Given the description of an element on the screen output the (x, y) to click on. 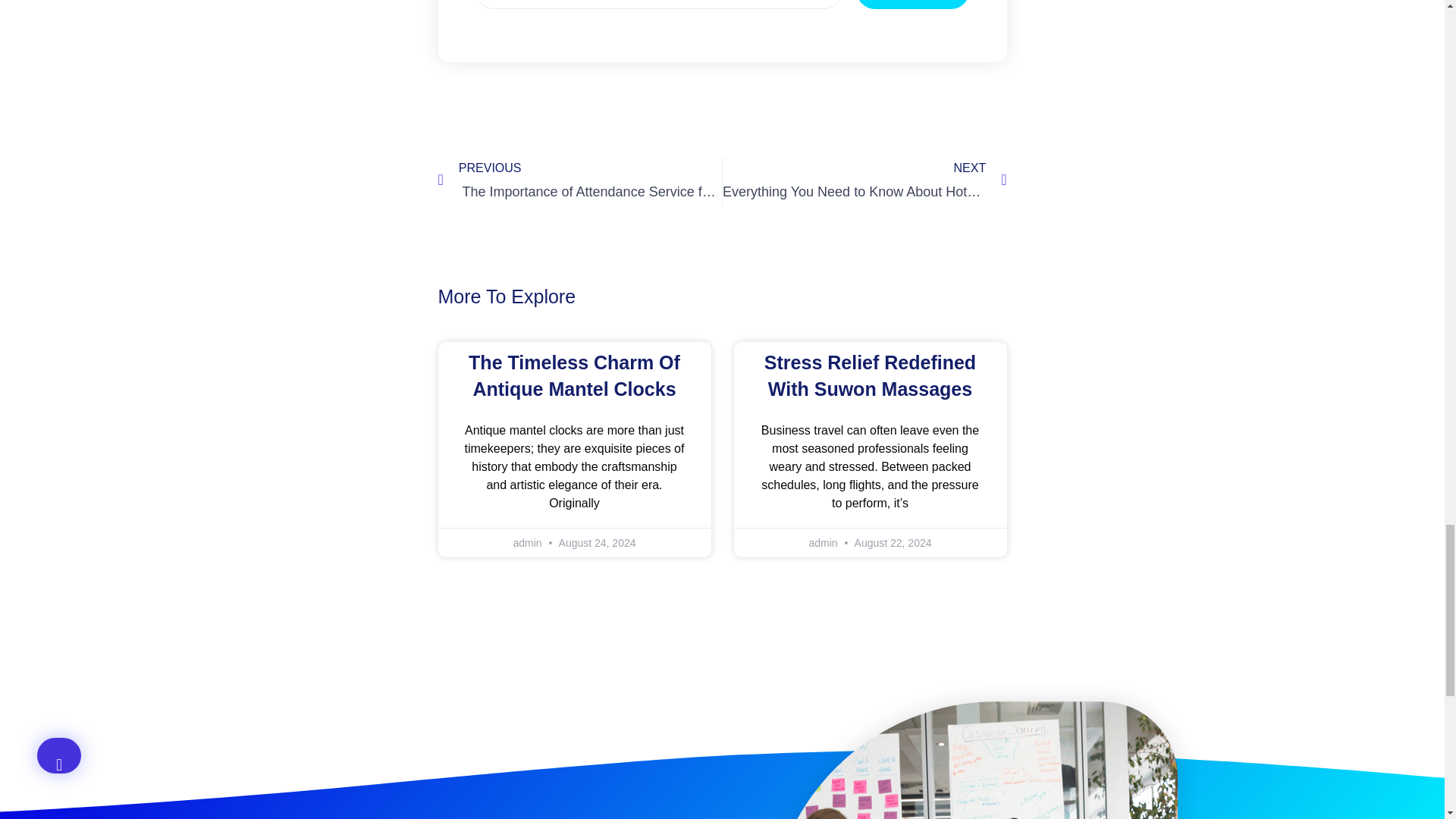
Stress Relief Redefined With Suwon Massages (869, 375)
The Timeless Charm Of Antique Mantel Clocks (573, 375)
Send (913, 4)
